Given the description of an element on the screen output the (x, y) to click on. 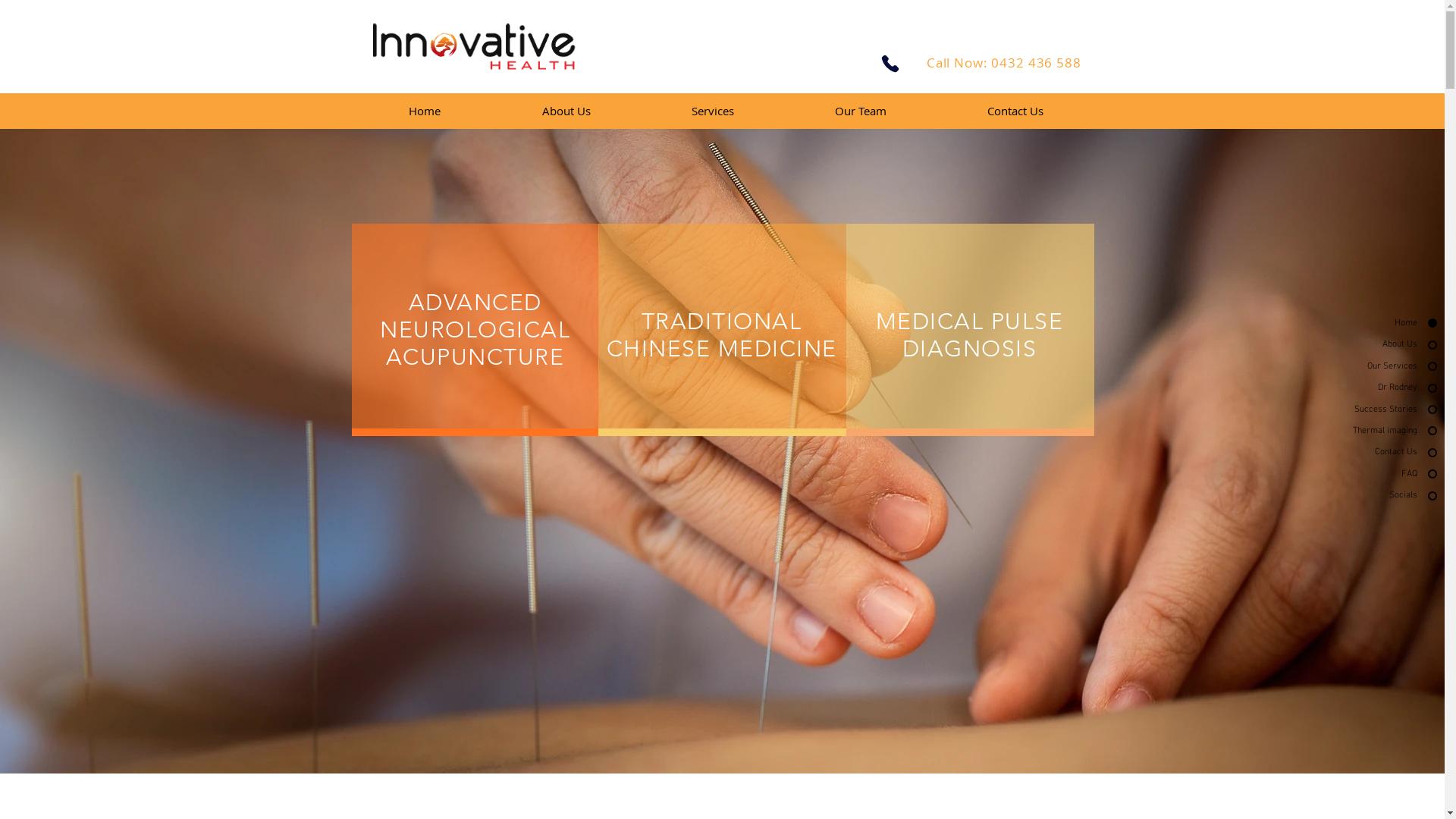
Our Services Element type: text (1357, 366)
logo.png Element type: hover (475, 48)
Contact Us Element type: text (1357, 451)
Home Element type: text (424, 110)
MEDICAL PULSE DIAGNOSIS Element type: text (969, 334)
Dr Rodney Element type: text (1357, 387)
Socials Element type: text (1357, 495)
Home Element type: text (1357, 322)
FAQ Element type: text (1357, 473)
TRADITIONAL CHINESE MEDICINE Element type: text (721, 334)
About Us Element type: text (566, 110)
Call Now: 0432 436 588  Element type: text (1005, 62)
Thermal imaging Element type: text (1357, 430)
Contact Us Element type: text (1015, 110)
About Us Element type: text (1357, 344)
Services Element type: text (712, 110)
ADVANCED NEUROLOGICAL ACUPUNCTURE Element type: text (474, 329)
Success Stories Element type: text (1357, 409)
Our Team Element type: text (860, 110)
